Given the description of an element on the screen output the (x, y) to click on. 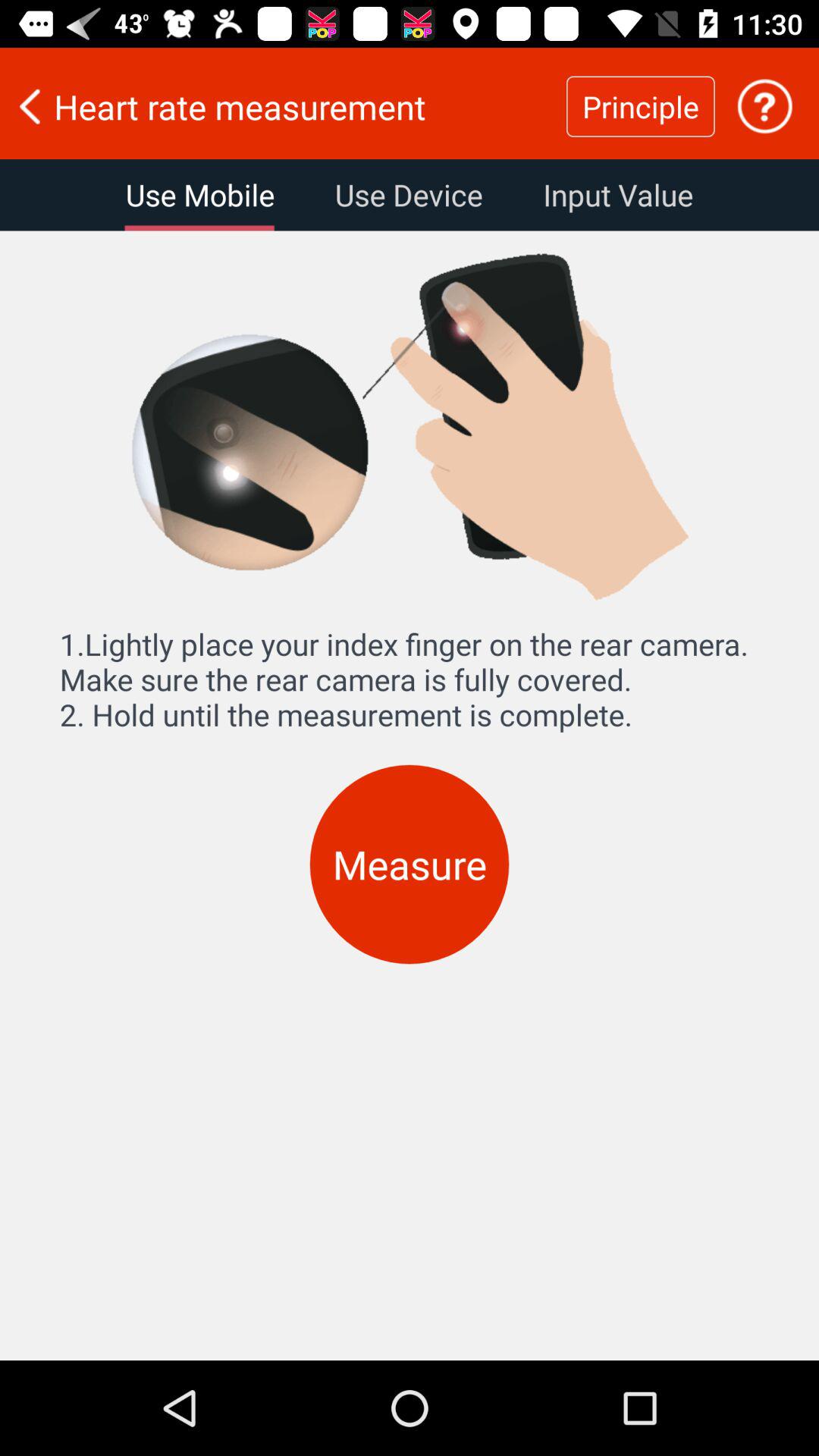
click the icon above use mobile icon (283, 106)
